Given the description of an element on the screen output the (x, y) to click on. 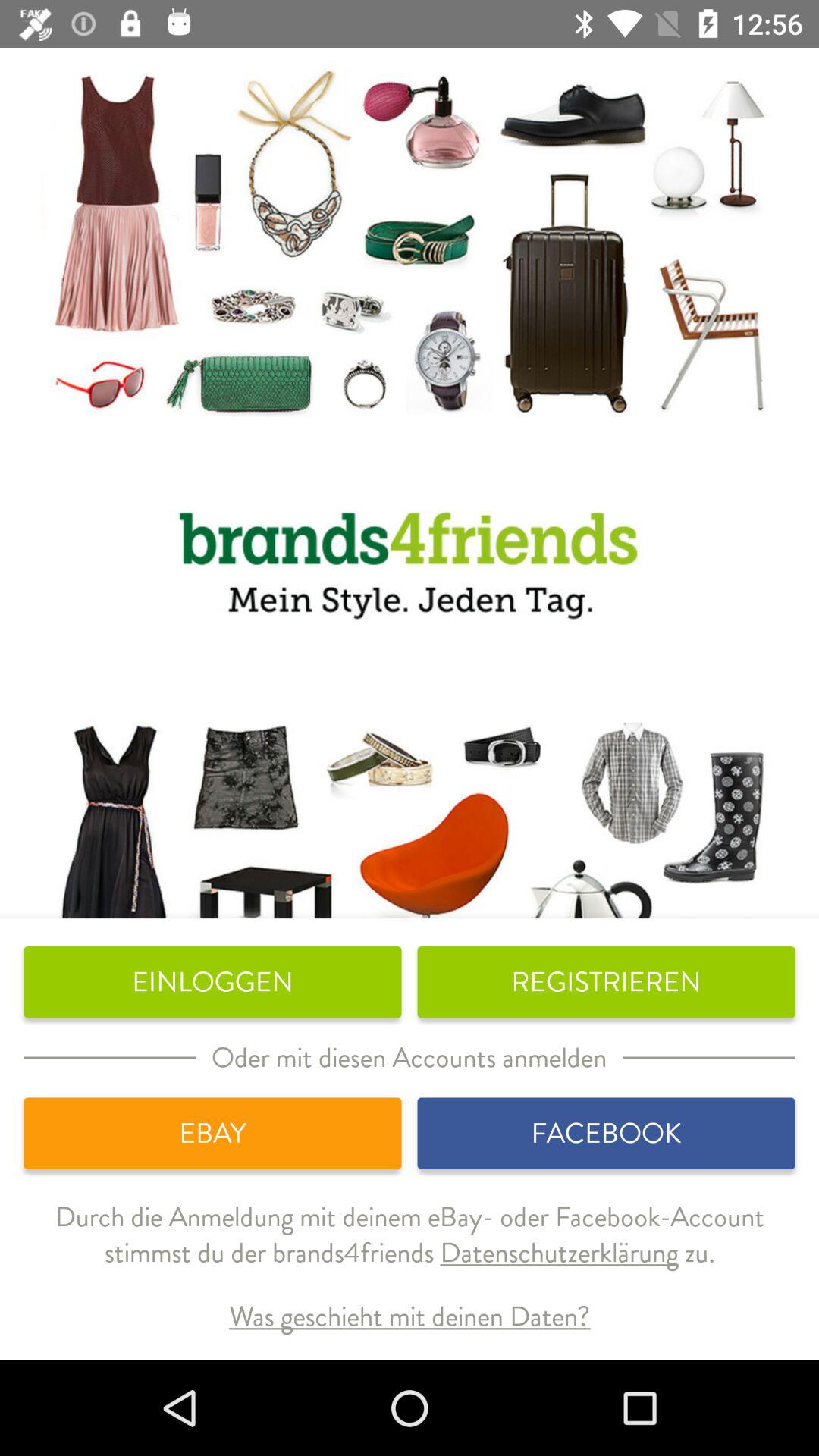
swipe until einloggen icon (212, 982)
